Given the description of an element on the screen output the (x, y) to click on. 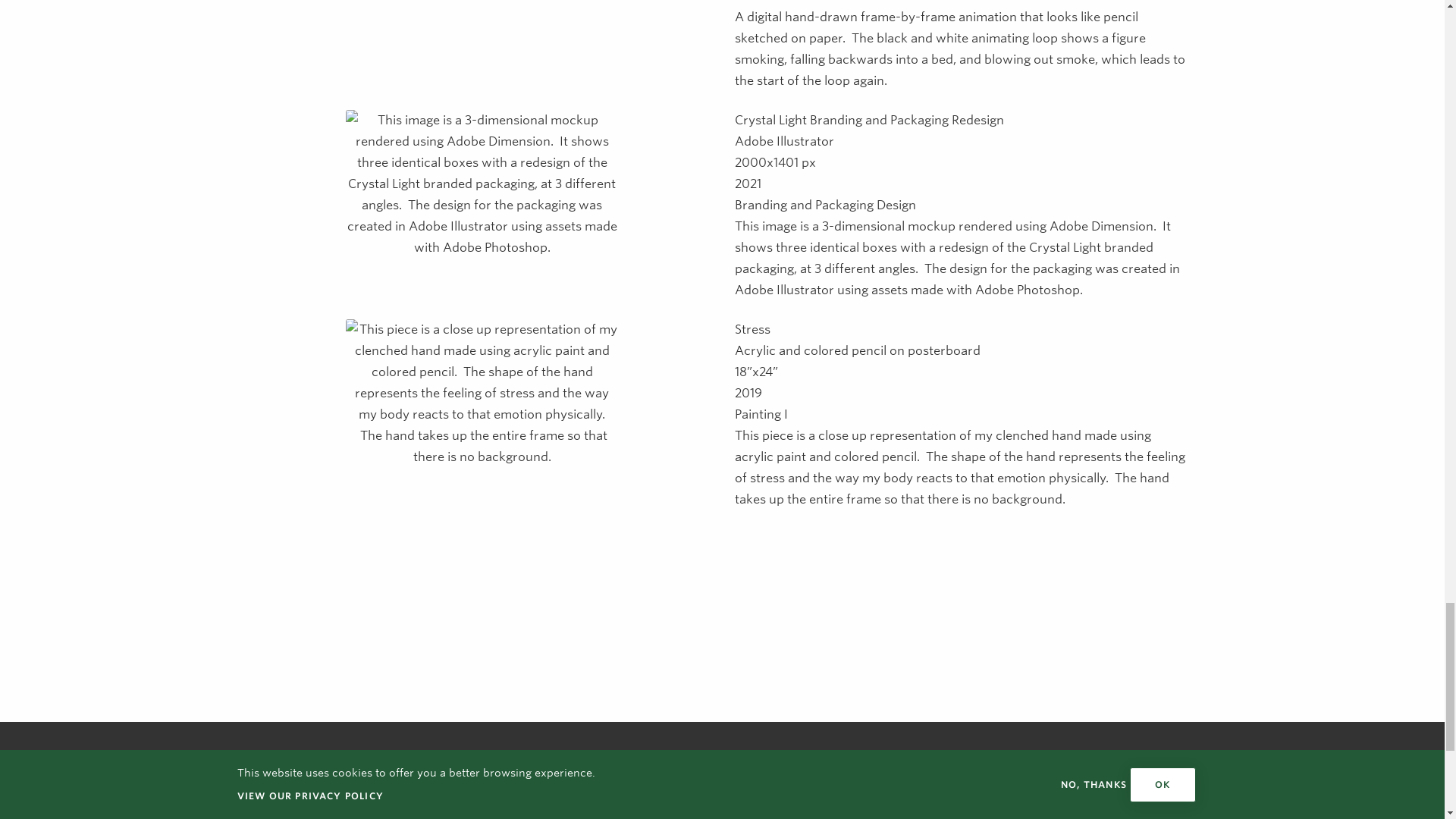
Request Info (881, 790)
Visit Us (1096, 790)
Apply Now (667, 790)
